Given the description of an element on the screen output the (x, y) to click on. 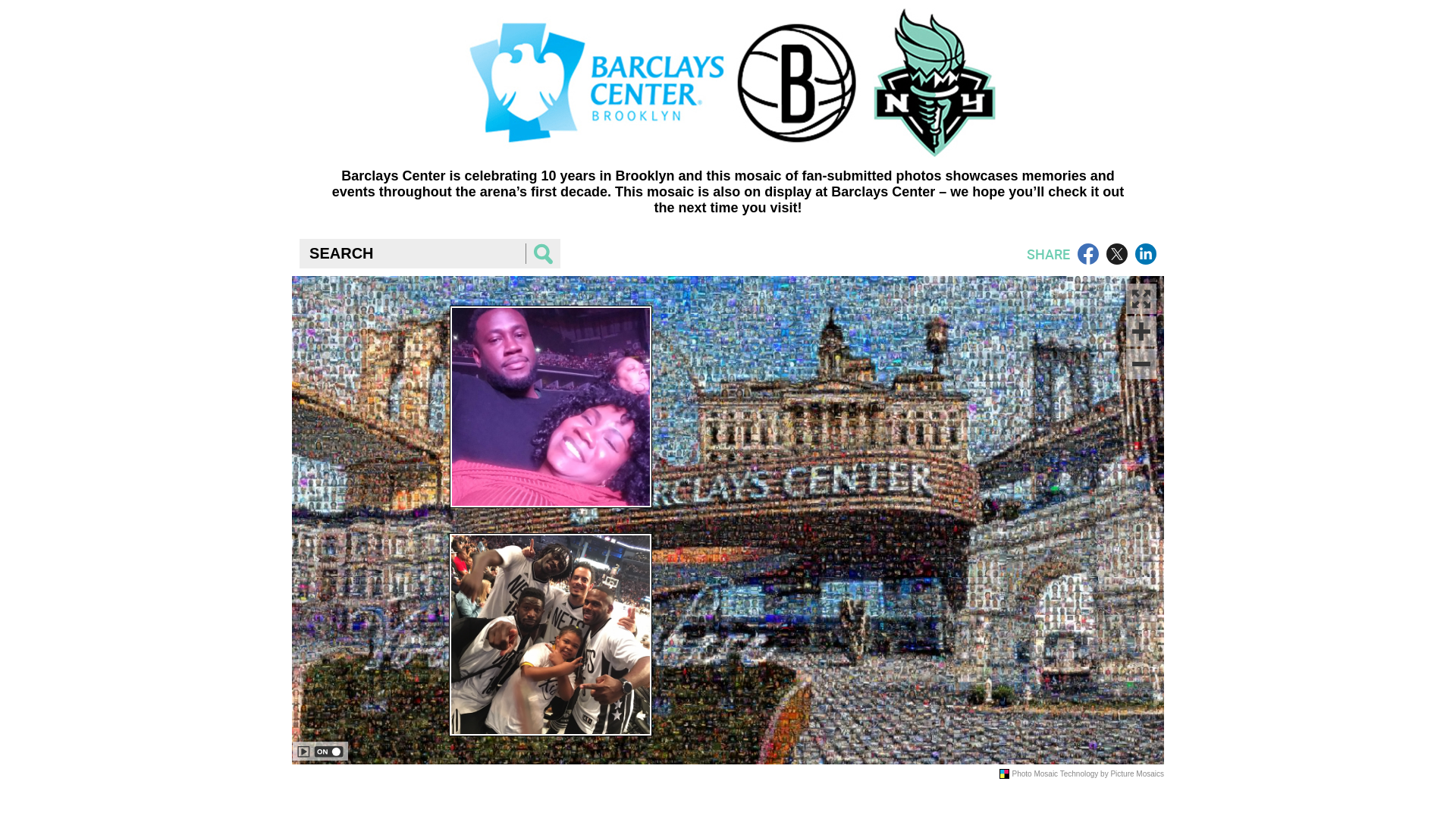
Photo Mosaic Technology by Picture Mosaics Element type: text (1088, 773)
